Given the description of an element on the screen output the (x, y) to click on. 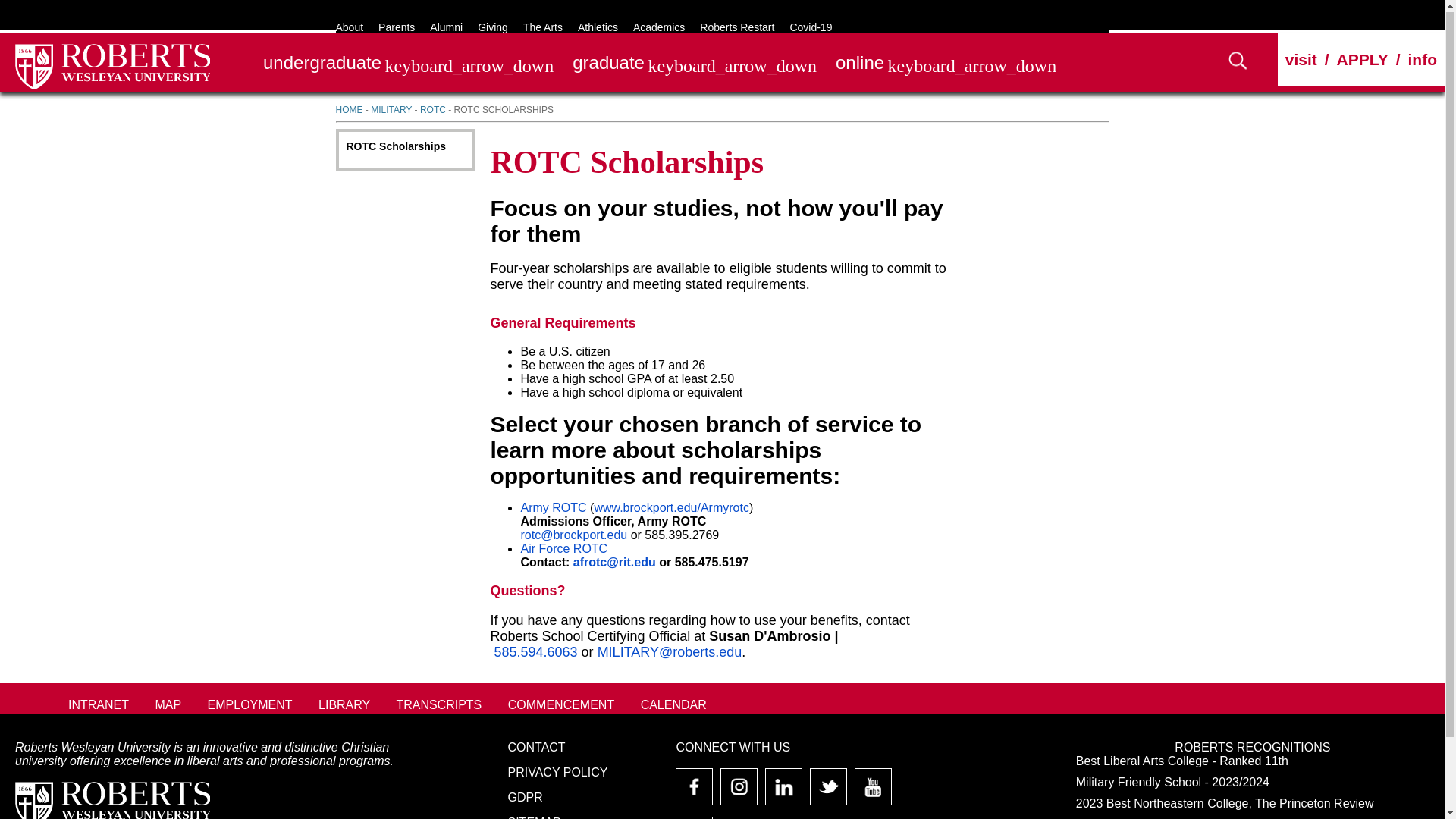
Covid-19 (810, 25)
Follow us on Facebook (694, 792)
Athletics (597, 25)
Roberts Restart (737, 25)
Follow us on LinkedIn (783, 792)
Follow us on YouTube (873, 792)
Follow us on Twitter (828, 792)
Air Force ROTC Scholarship (563, 548)
Skip to main content (55, 5)
Giving (492, 25)
